Given the description of an element on the screen output the (x, y) to click on. 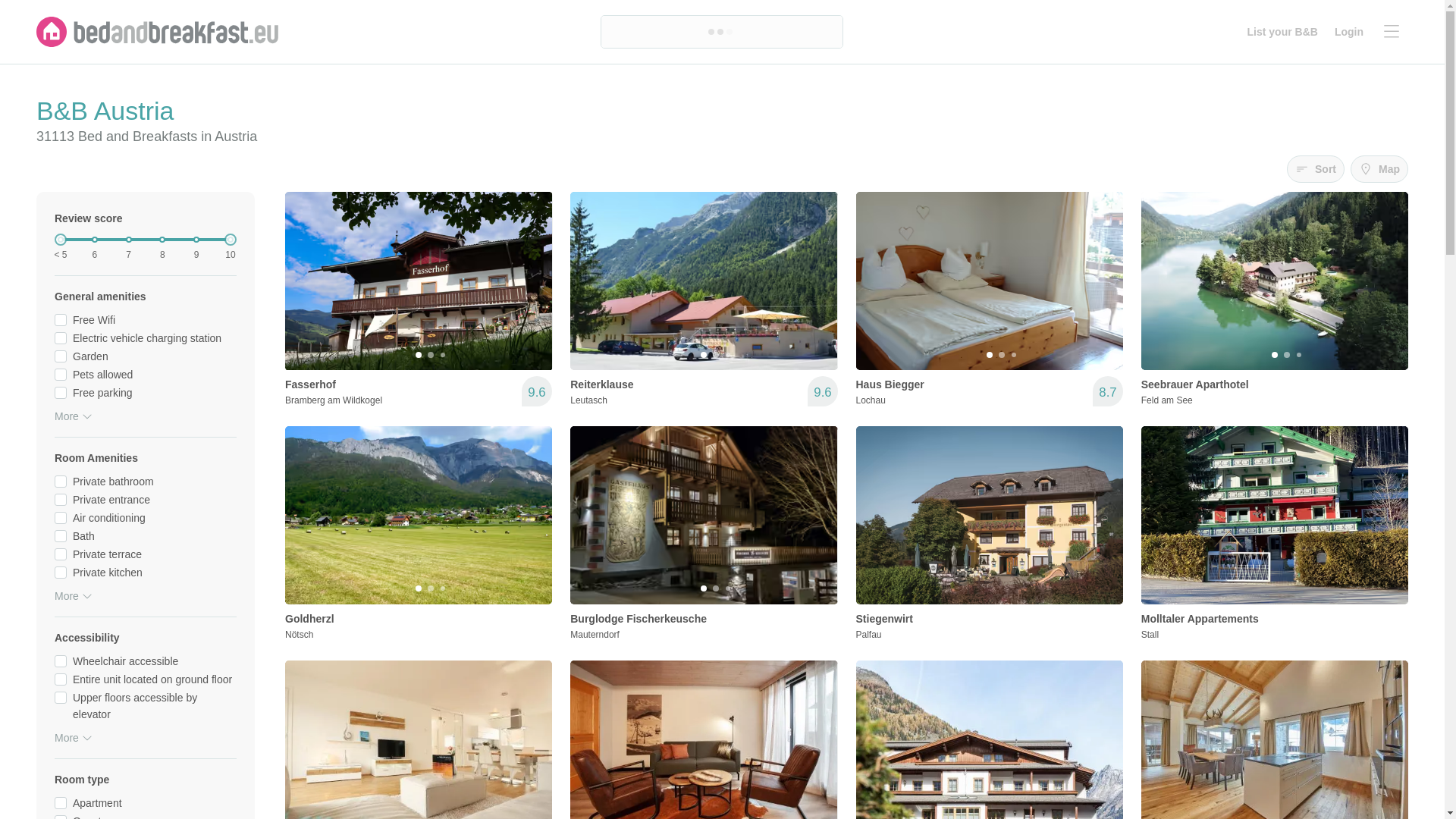
9.6 (821, 390)
9.6 (536, 390)
8.7 (1107, 390)
Login (1348, 31)
9.6 (418, 299)
Sort (989, 299)
